Given the description of an element on the screen output the (x, y) to click on. 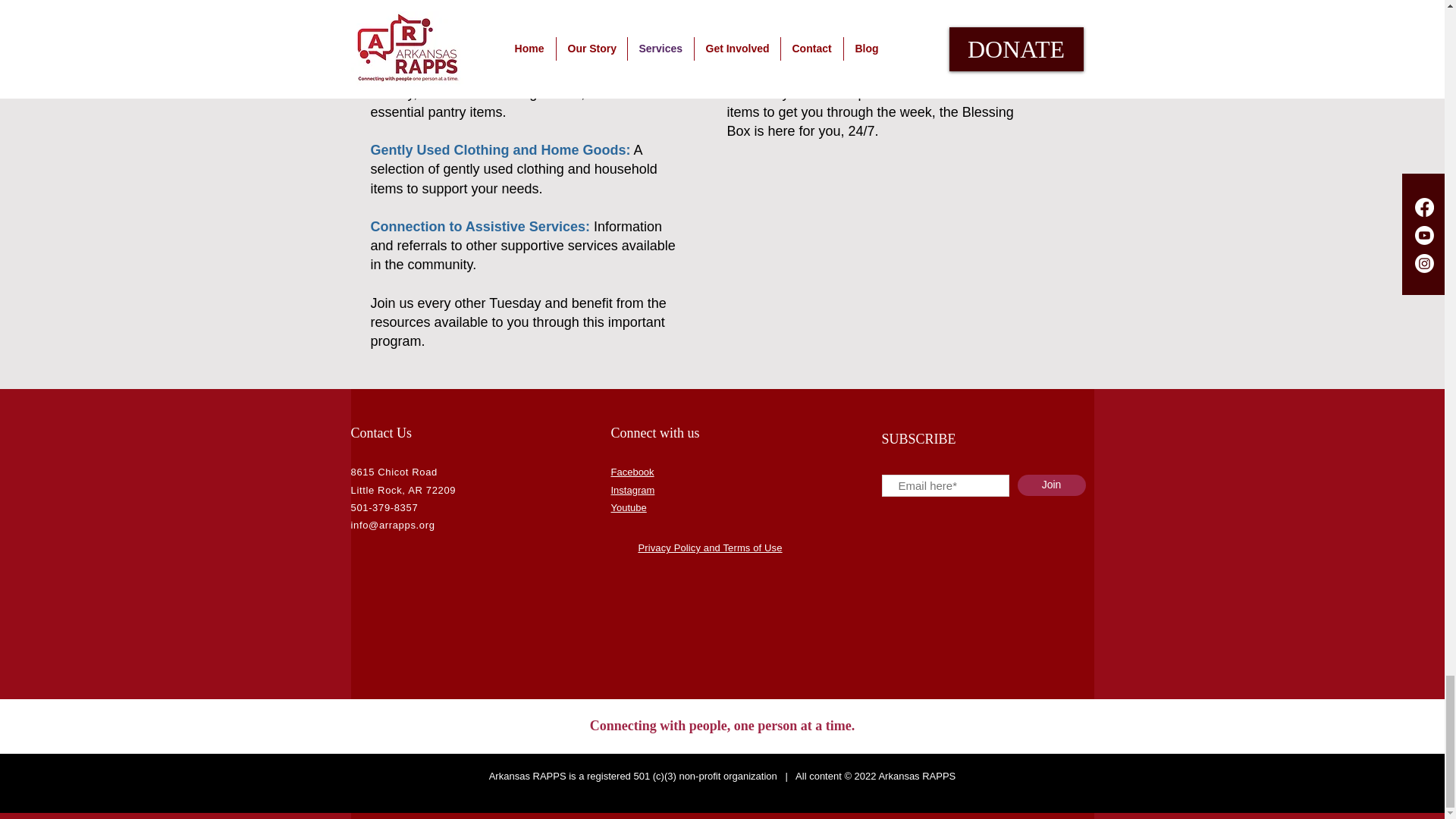
Youtube (628, 507)
Join (1051, 485)
Facebook (632, 471)
Privacy Policy and Terms of Use (709, 547)
Instagram (633, 490)
